Given the description of an element on the screen output the (x, y) to click on. 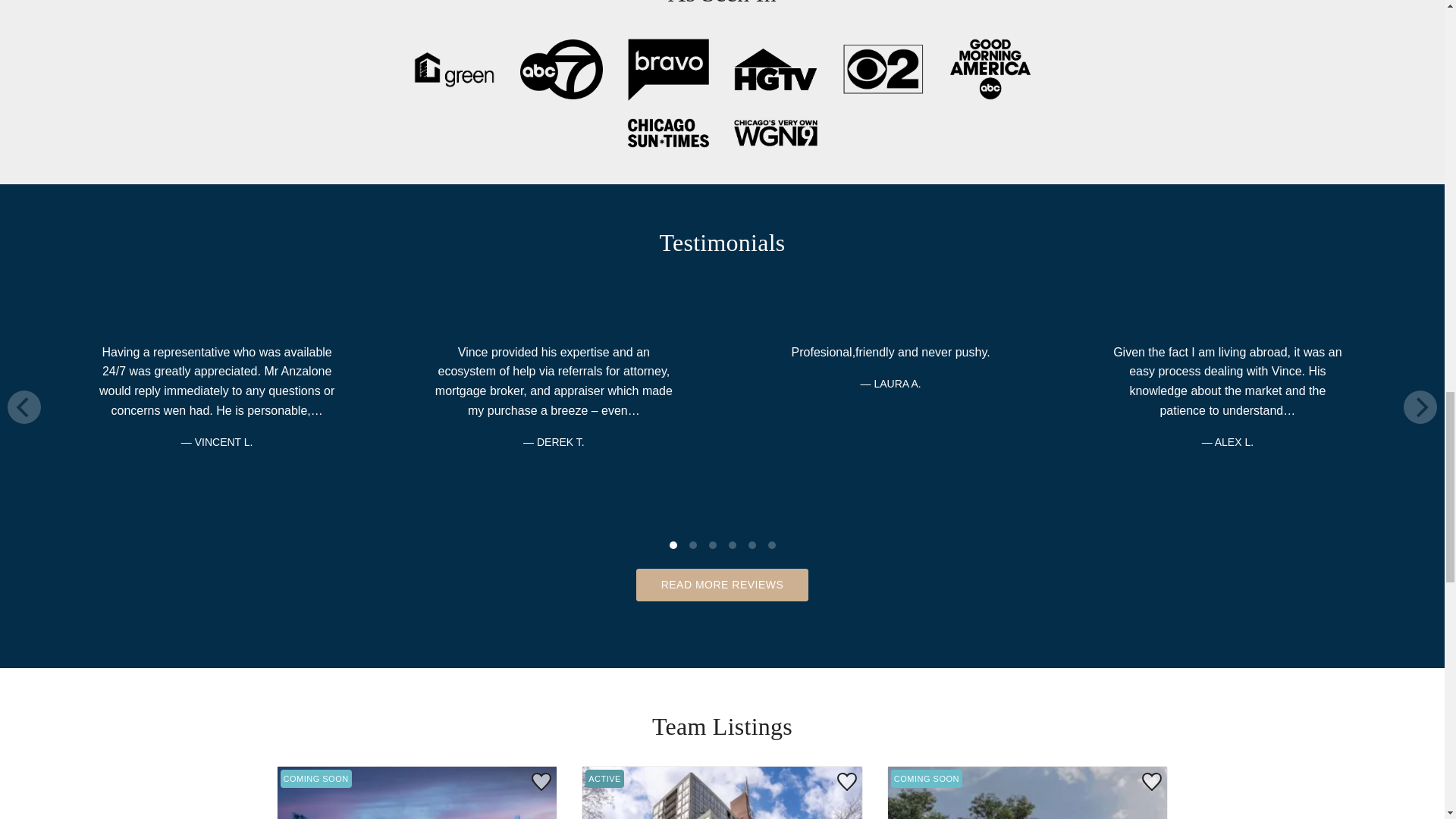
top quotation mark (553, 511)
Save to Favorite (540, 781)
READ MORE REVIEWS (722, 584)
top quotation mark (891, 511)
top quotation mark (1227, 511)
top quotation mark (1227, 300)
top quotation mark (553, 300)
top quotation mark (891, 300)
top quotation mark (216, 511)
top quotation mark (216, 300)
Save to Favorite (846, 781)
